Given the description of an element on the screen output the (x, y) to click on. 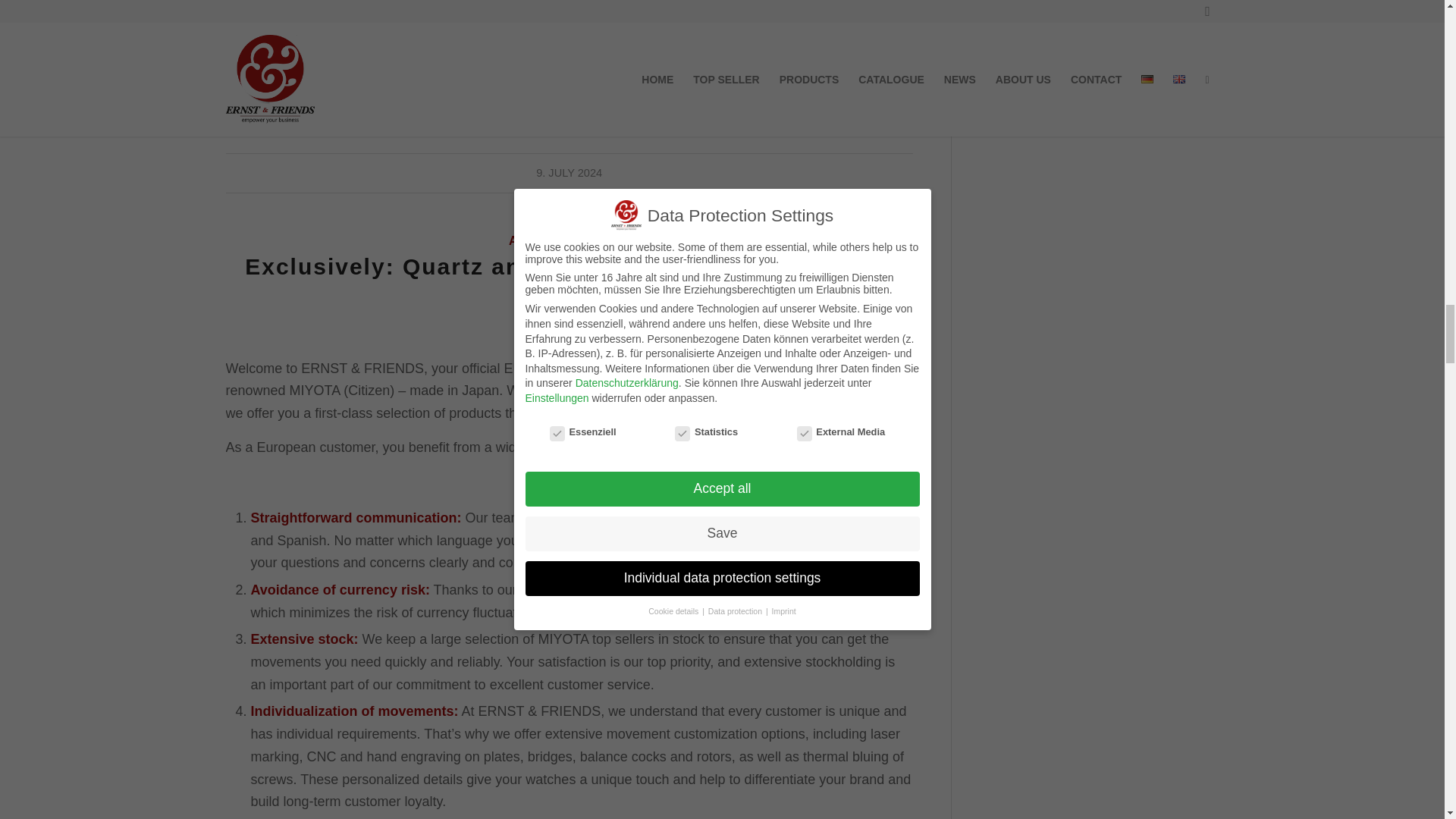
ALLGEMEIN (544, 240)
PRESS (608, 240)
